Given the description of an element on the screen output the (x, y) to click on. 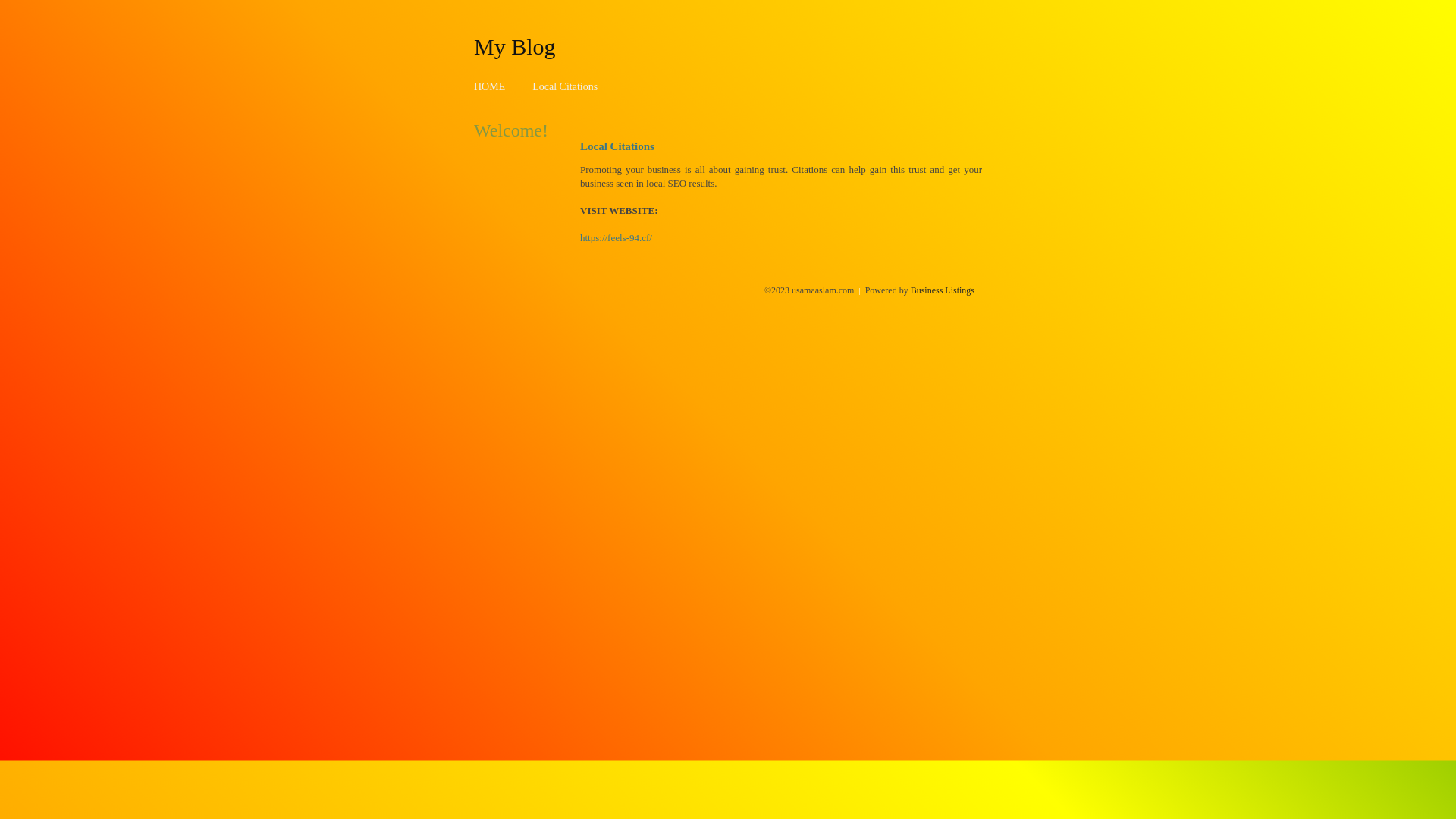
My Blog Element type: text (514, 46)
HOME Element type: text (489, 86)
https://feels-94.cf/ Element type: text (616, 237)
Business Listings Element type: text (942, 290)
Local Citations Element type: text (564, 86)
